Given the description of an element on the screen output the (x, y) to click on. 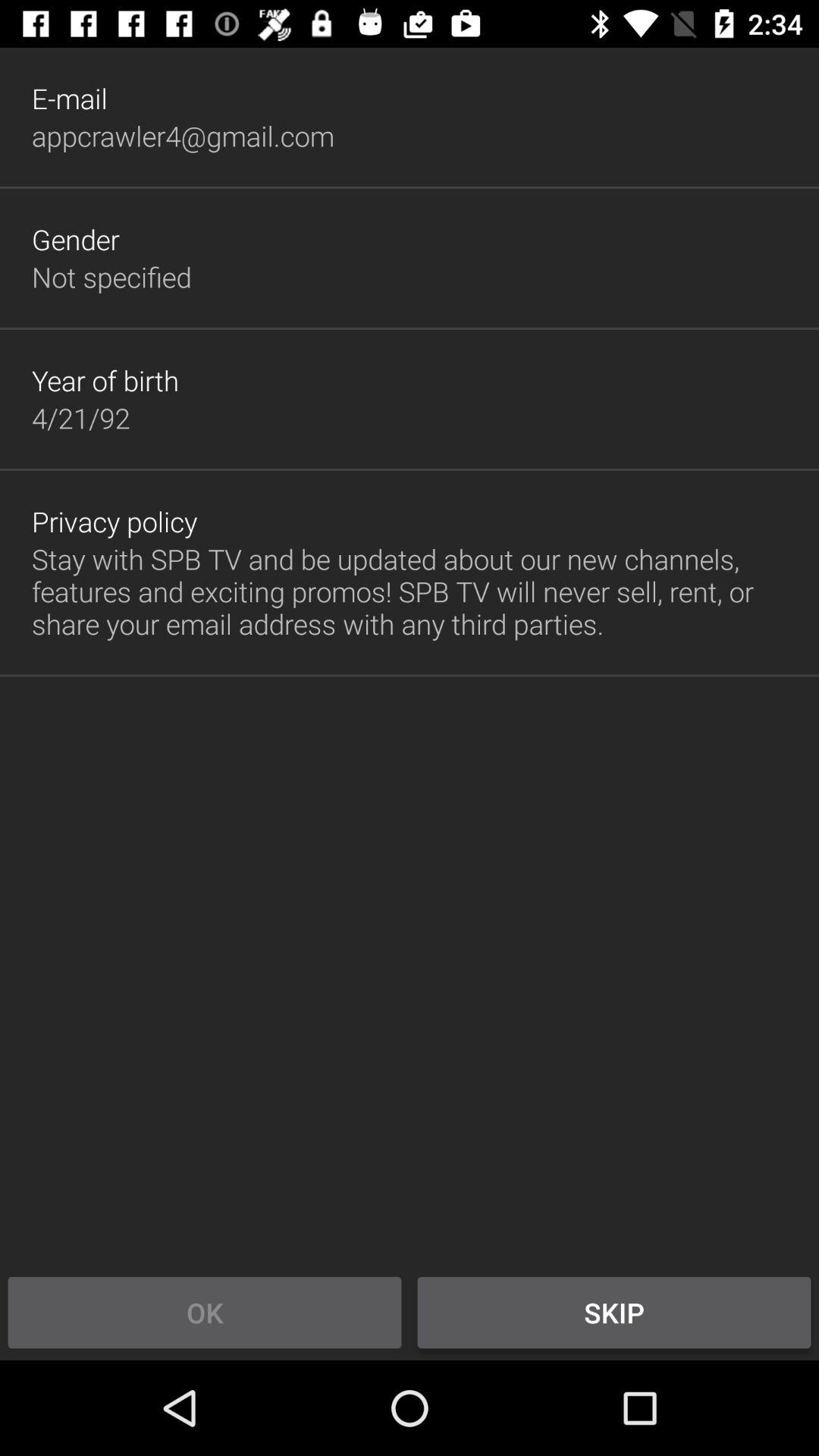
launch gender icon (75, 239)
